Given the description of an element on the screen output the (x, y) to click on. 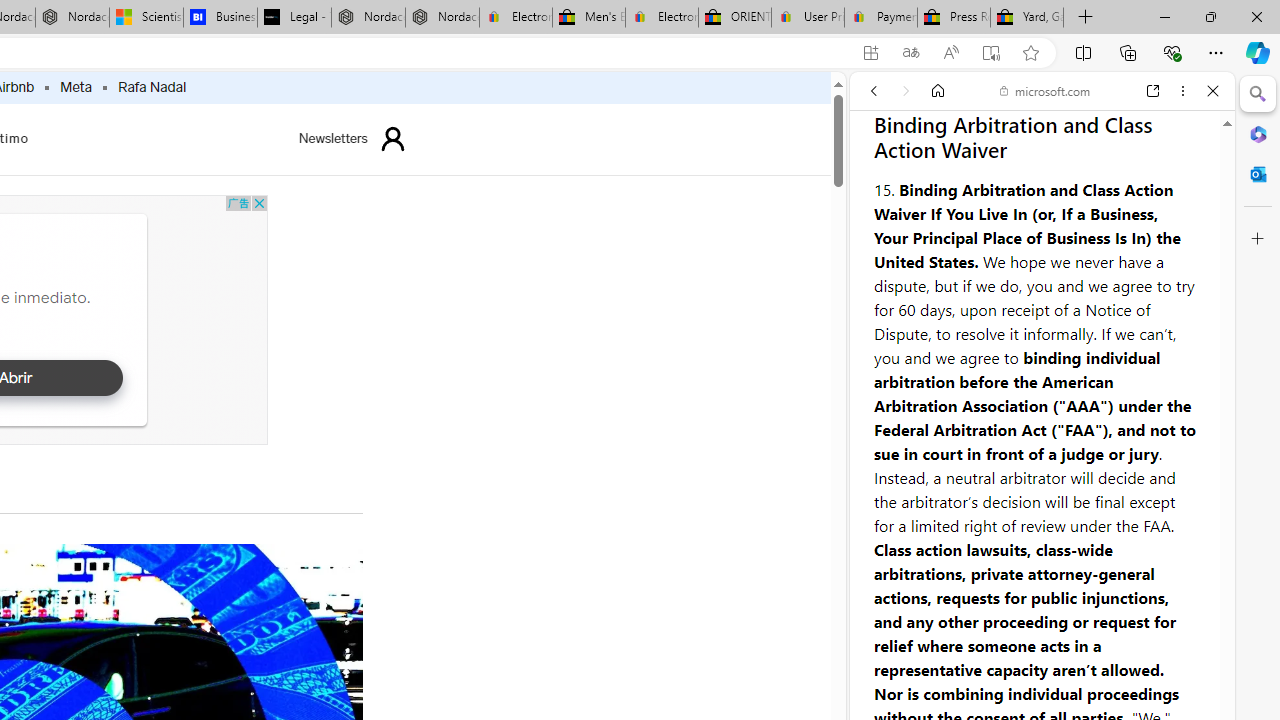
Meta (75, 88)
Rafa Nadal (152, 88)
App available (870, 53)
